Given the description of an element on the screen output the (x, y) to click on. 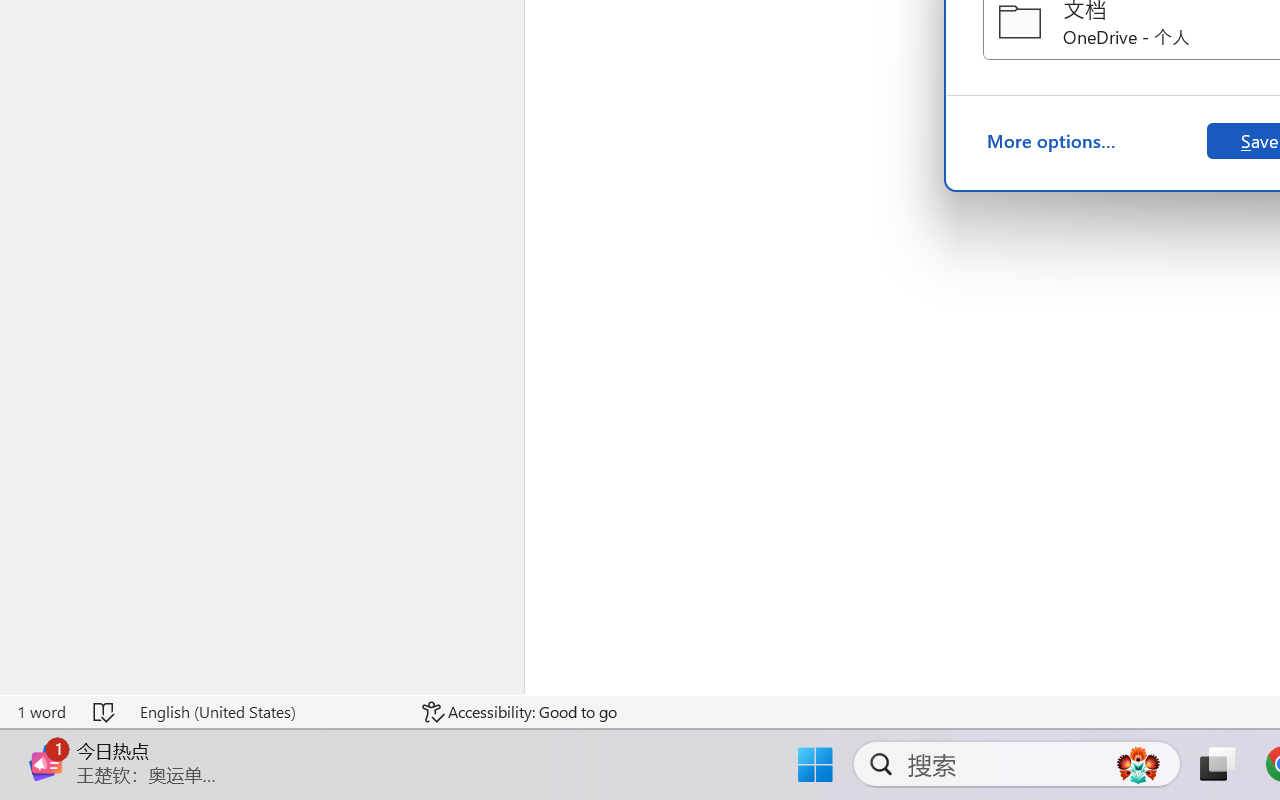
Language English (United States) (267, 712)
Accessibility Checker Accessibility: Good to go (519, 712)
Word Count 1 word (41, 712)
Spelling and Grammar Check No Errors (105, 712)
AutomationID: DynamicSearchBoxGleamImage (1138, 764)
Class: Image (46, 762)
